Given the description of an element on the screen output the (x, y) to click on. 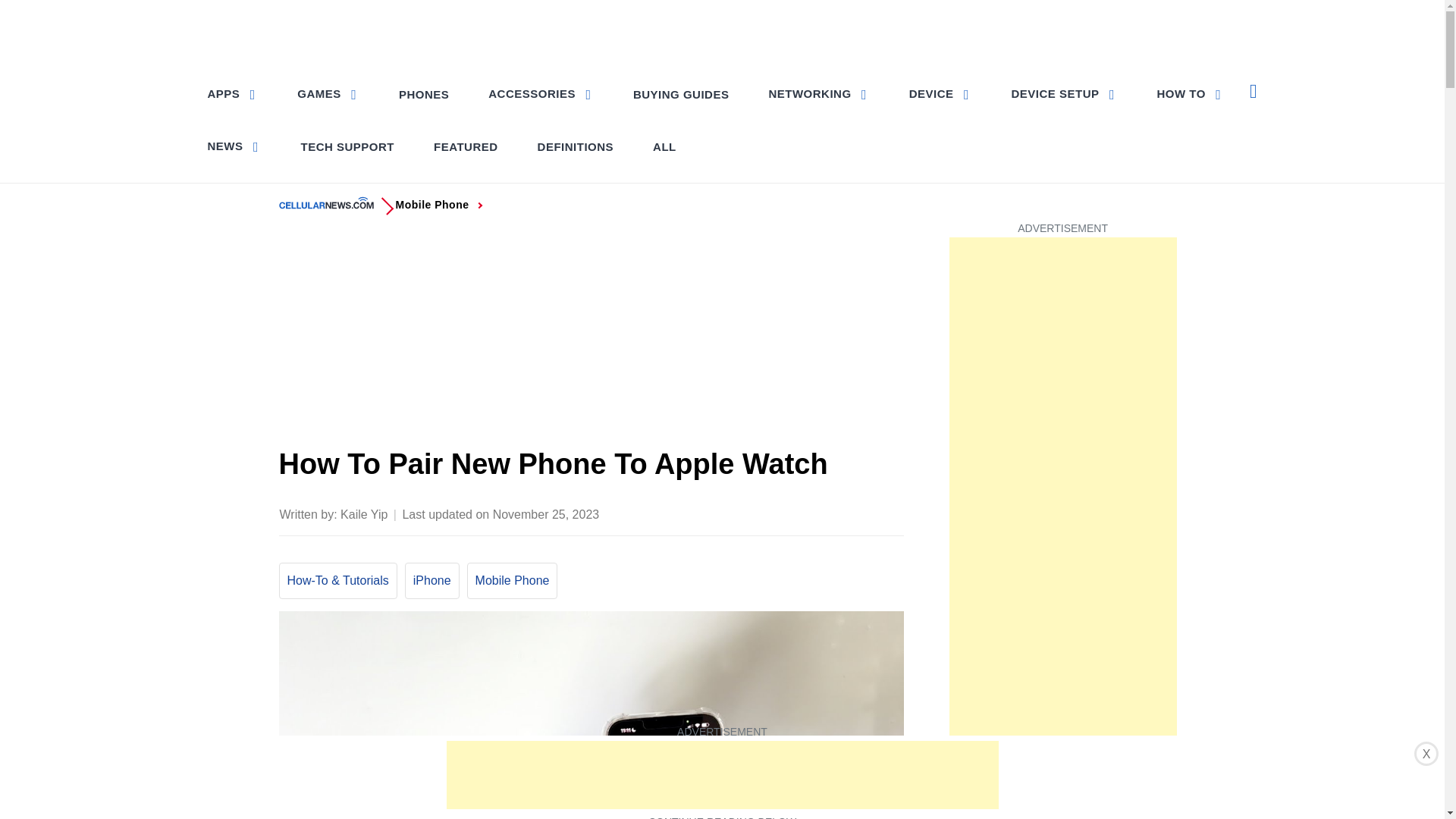
Share on Pinterest (800, 512)
Mail the Link (890, 512)
Share on twitter (769, 512)
APPS (233, 93)
DEVICE (940, 93)
ACCESSORIES (540, 93)
Copy to Clipboard (860, 512)
GAMES (327, 93)
Share on Whatsapp (829, 512)
NETWORKING (818, 93)
